Given the description of an element on the screen output the (x, y) to click on. 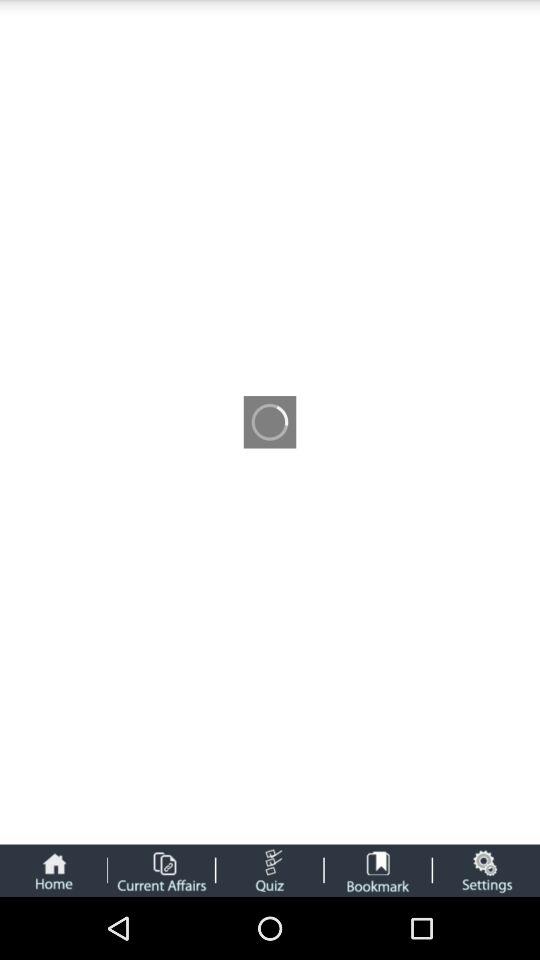
go to current affairs (161, 870)
